Given the description of an element on the screen output the (x, y) to click on. 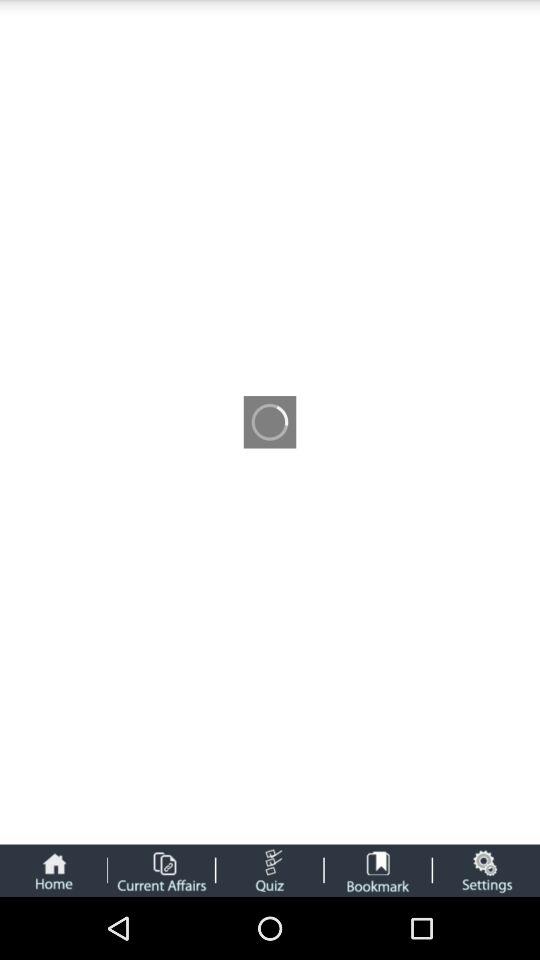
go to current affairs (161, 870)
